Given the description of an element on the screen output the (x, y) to click on. 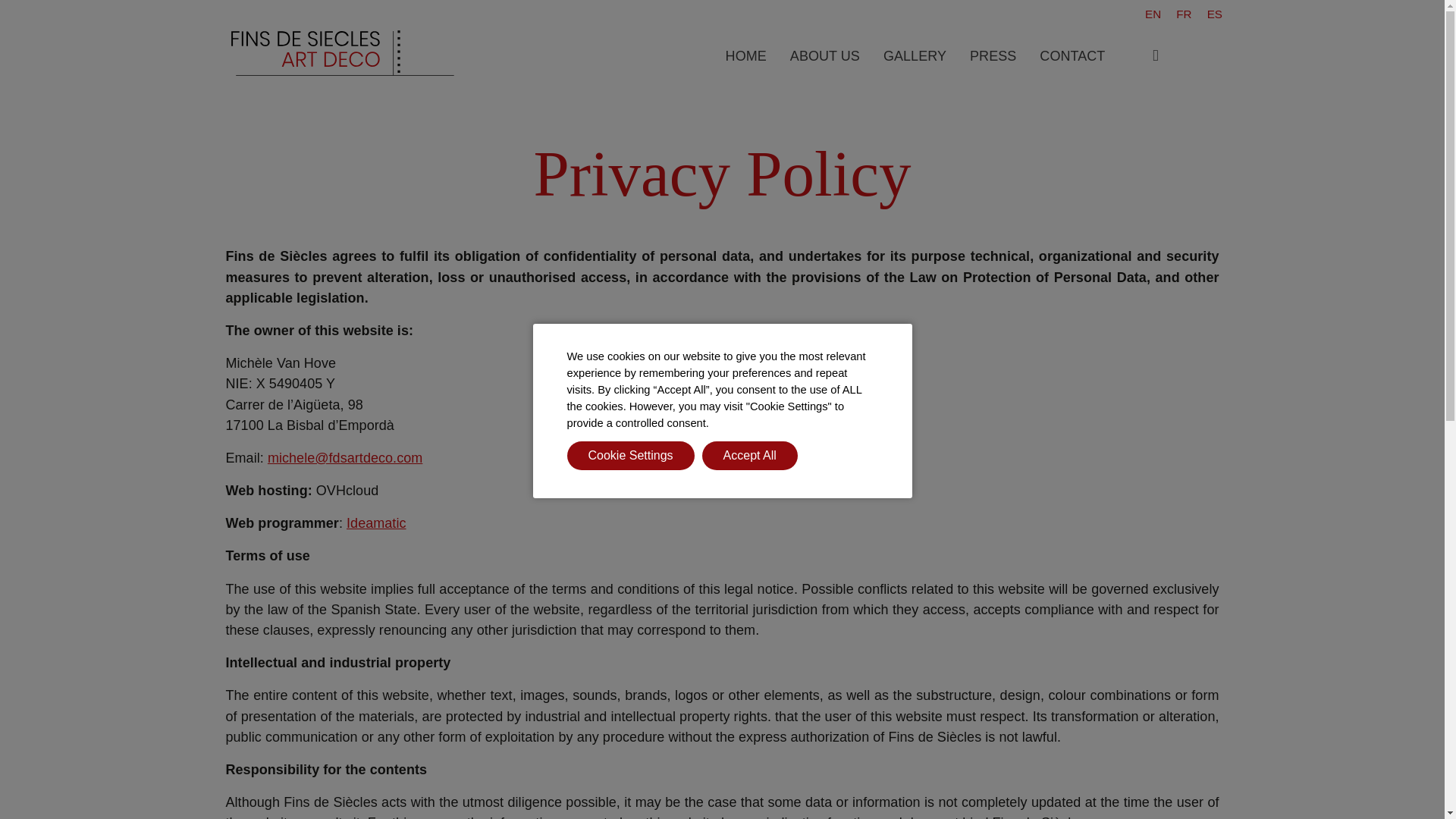
Accept All (749, 455)
GALLERY (914, 55)
ES (1214, 14)
PRESS (992, 55)
Ideamatic (376, 522)
ABOUT US (825, 55)
EN (1153, 14)
HOME (746, 55)
CONTACT (1072, 55)
Cookie Settings (630, 455)
FR (1183, 14)
